Given the description of an element on the screen output the (x, y) to click on. 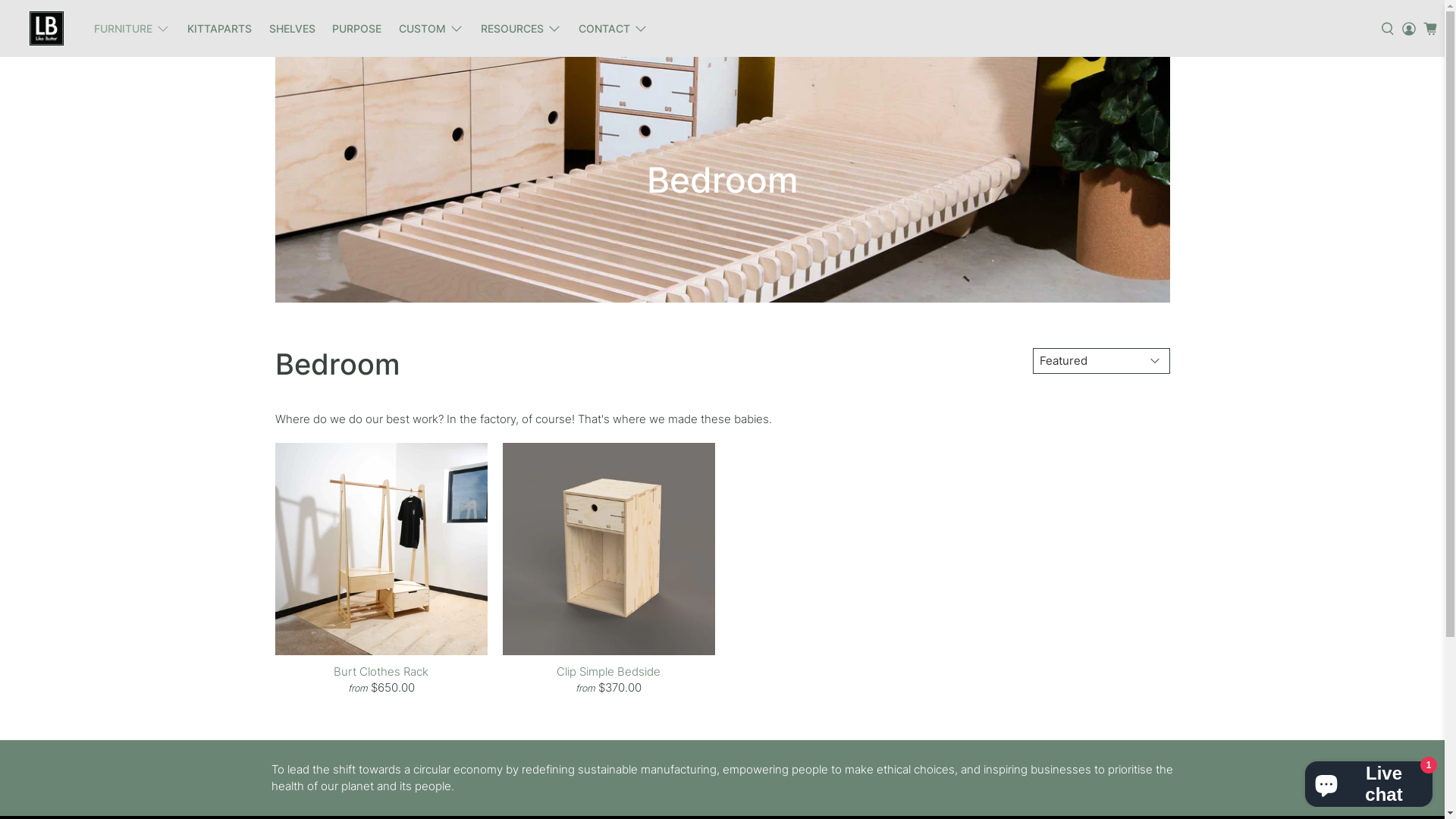
Shopify online store chat Element type: hover (1368, 780)
CONTACT Element type: text (613, 28)
Burt Clothes Rack Element type: text (381, 670)
RESOURCES Element type: text (520, 28)
PURPOSE Element type: text (356, 28)
CUSTOM Element type: text (430, 28)
Clip Simple Bedside Element type: text (608, 670)
Like Butter Pty Ltd Element type: hover (45, 28)
KITTAPARTS Element type: text (219, 28)
SHELVES Element type: text (291, 28)
FURNITURE Element type: text (131, 28)
